Given the description of an element on the screen output the (x, y) to click on. 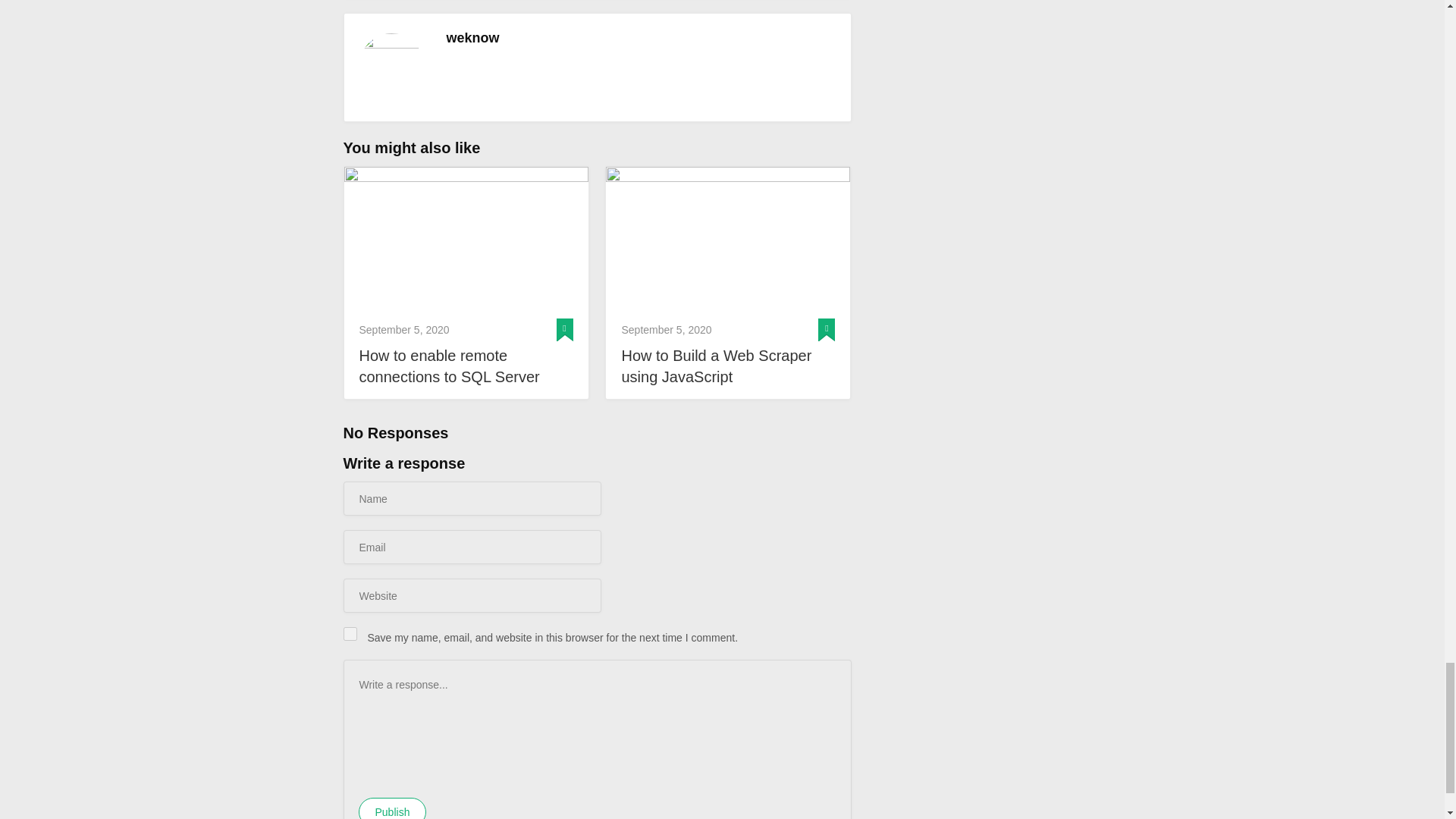
How to enable remote connections to SQL Server (466, 365)
How to enable remote connections to SQL Server (465, 239)
Publish (392, 808)
weknow (472, 37)
Publish (392, 808)
yes (349, 633)
How to enable remote connections to SQL Server (466, 365)
How to Build a Web Scraper using JavaScript (727, 239)
How to Build a Web Scraper using JavaScript (727, 365)
How to Build a Web Scraper using JavaScript (727, 365)
